Given the description of an element on the screen output the (x, y) to click on. 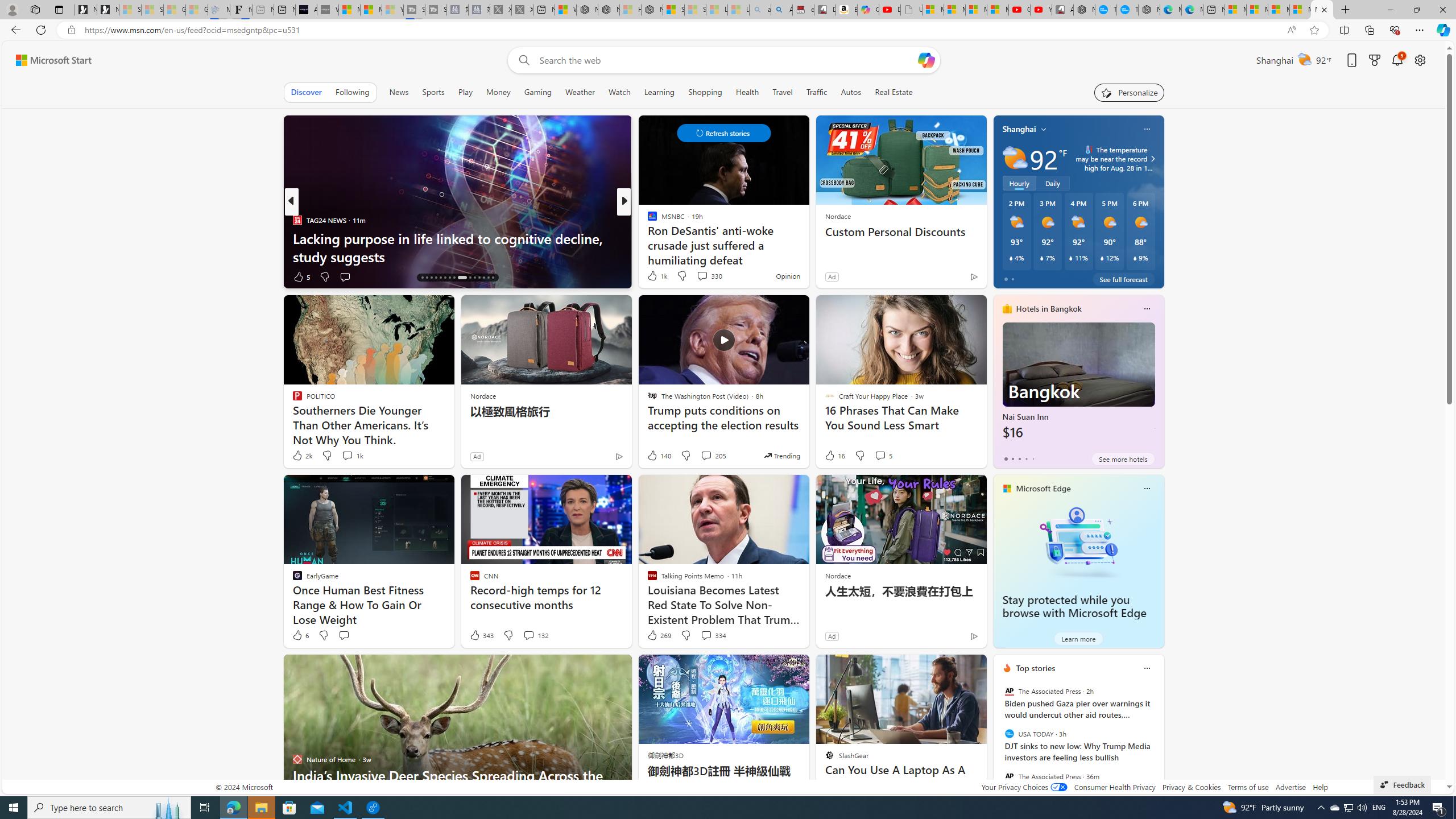
Shanghai (1018, 128)
See full forecast (1123, 278)
My location (1043, 128)
Class: weather-current-precipitation-glyph (1134, 257)
View comments 96 Comment (703, 276)
91 Like (652, 276)
View comments 5 Comment (879, 455)
